Given the description of an element on the screen output the (x, y) to click on. 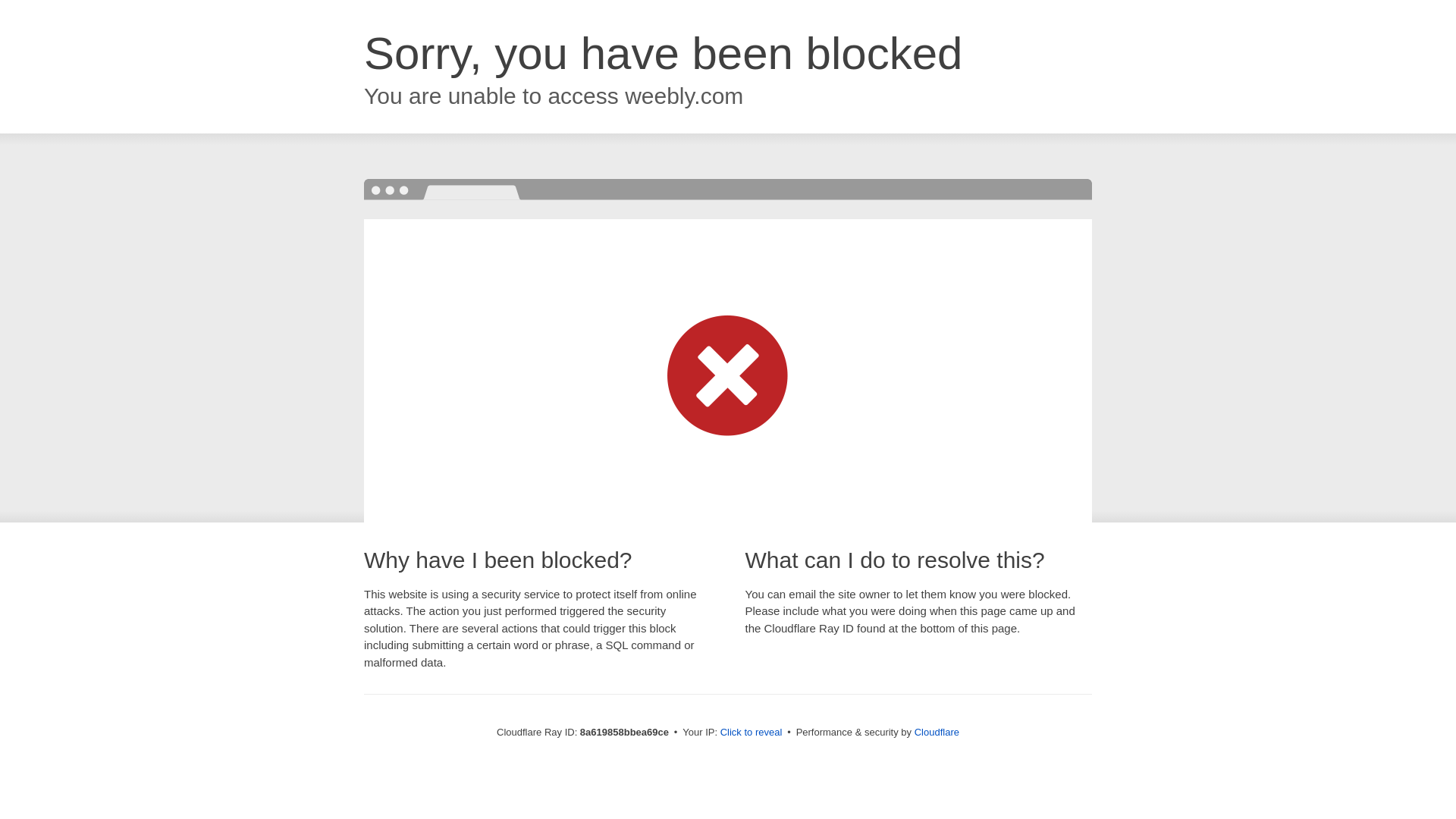
Cloudflare (936, 731)
Click to reveal (751, 732)
